Given the description of an element on the screen output the (x, y) to click on. 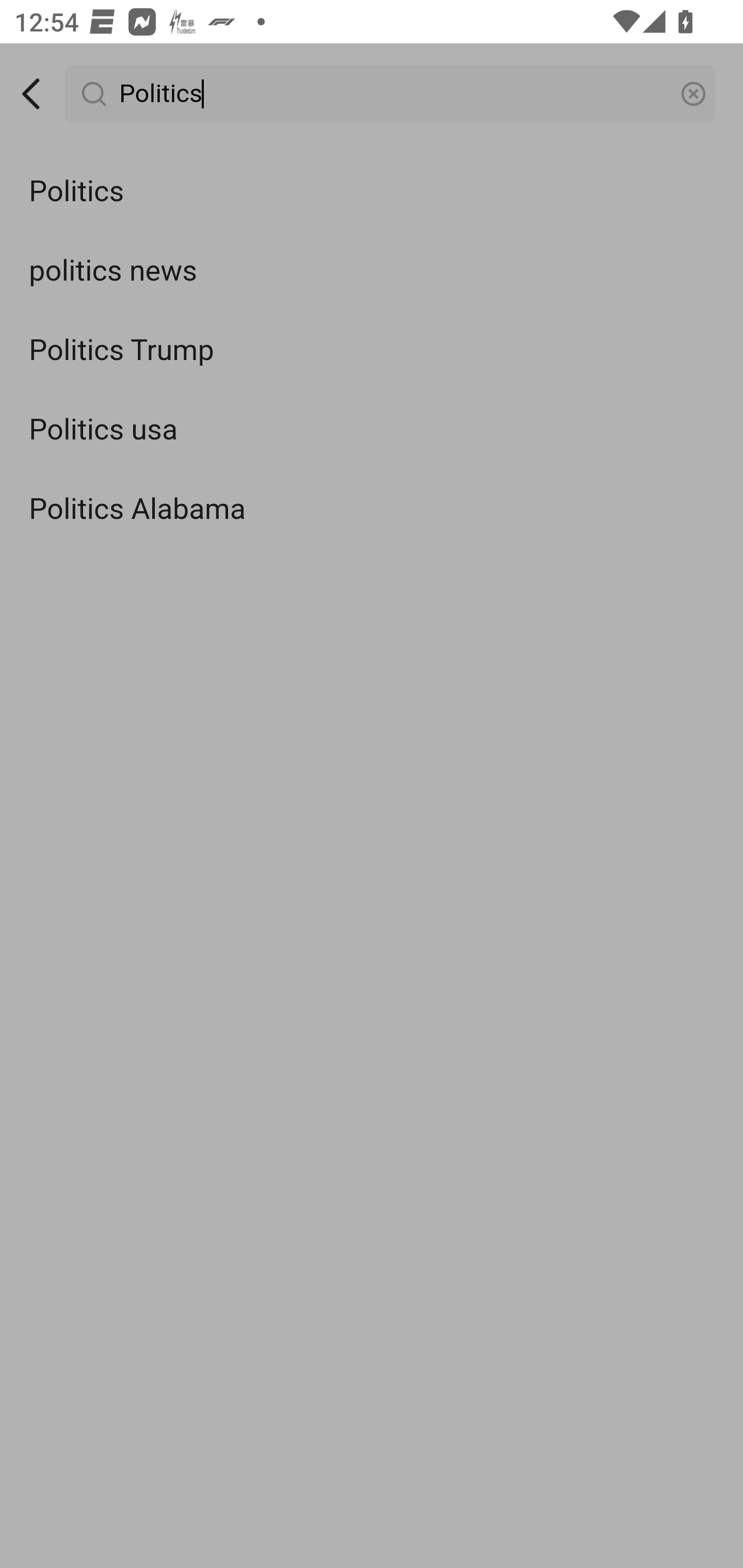
Politics (390, 93)
Politics (371, 192)
politics news (371, 270)
Politics Trump (371, 351)
Politics usa (371, 430)
Politics Alabama (371, 508)
